Given the description of an element on the screen output the (x, y) to click on. 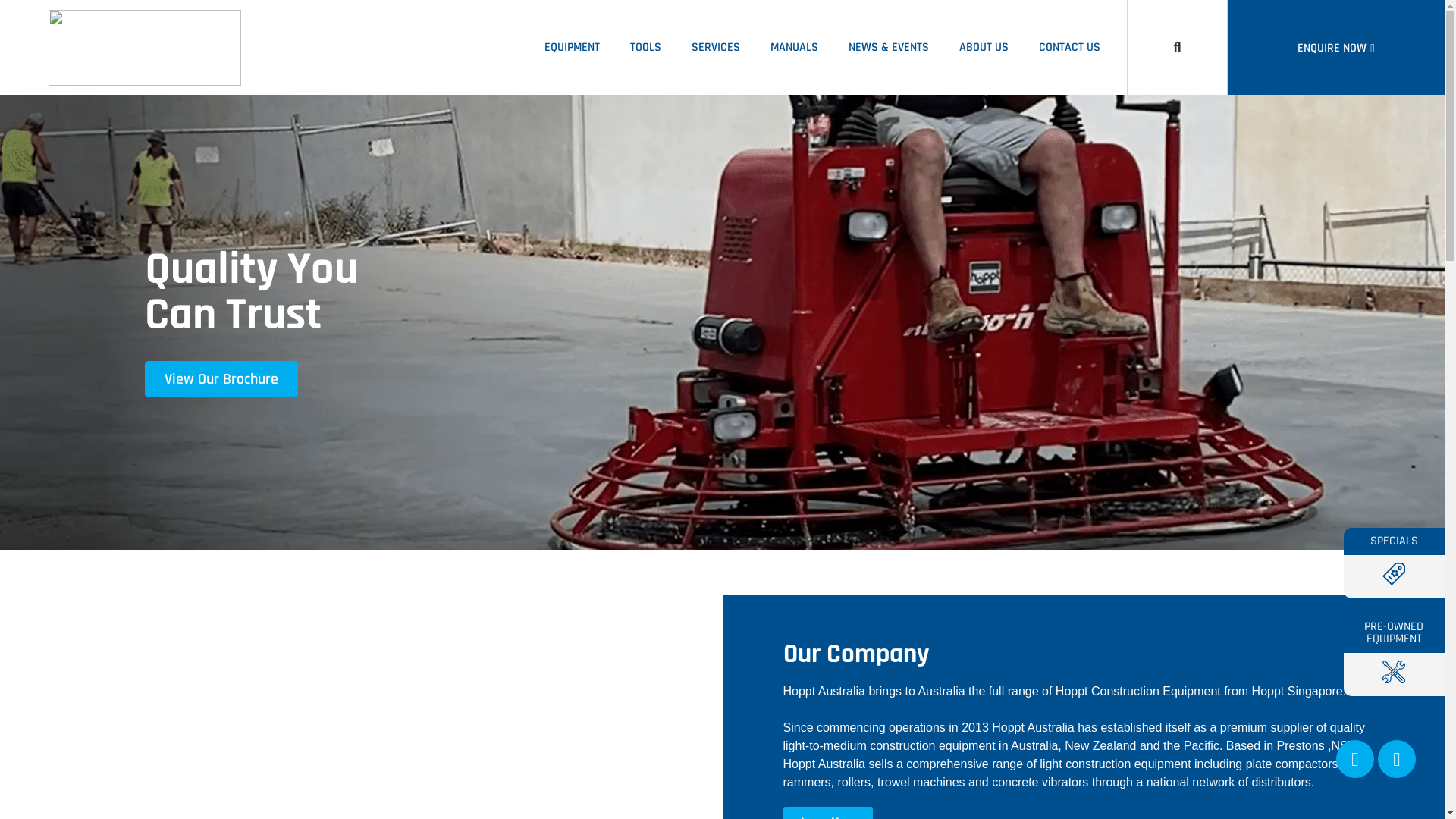
PRE-OWNED EQUIPMENT Element type: text (1393, 654)
NEWS & EVENTS Element type: text (888, 47)
CONTACT US Element type: text (1069, 47)
TOOLS Element type: text (645, 47)
ABOUT US Element type: text (983, 47)
ENQUIRE NOW Element type: text (1335, 48)
SERVICES Element type: text (715, 47)
MANUALS Element type: text (794, 47)
View Our Brochure Element type: text (220, 378)
SPECIALS Element type: text (1393, 562)
EQUIPMENT Element type: text (572, 47)
